Given the description of an element on the screen output the (x, y) to click on. 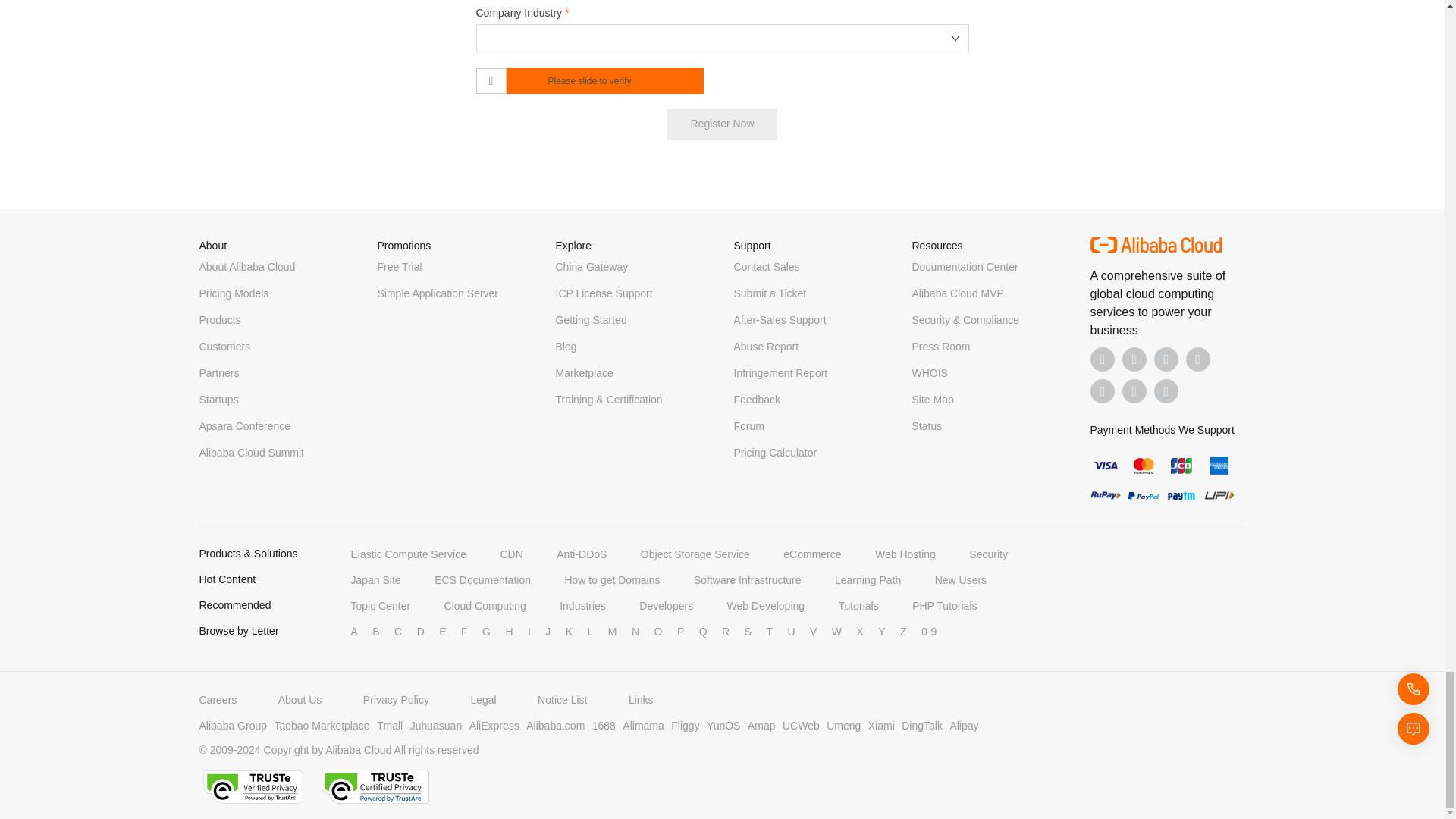
YouTube (1197, 359)
Facebook (1102, 359)
Linkedin (1134, 359)
Twitter (1165, 359)
Call Us Now (1165, 391)
TikTok (1102, 391)
